Given the description of an element on the screen output the (x, y) to click on. 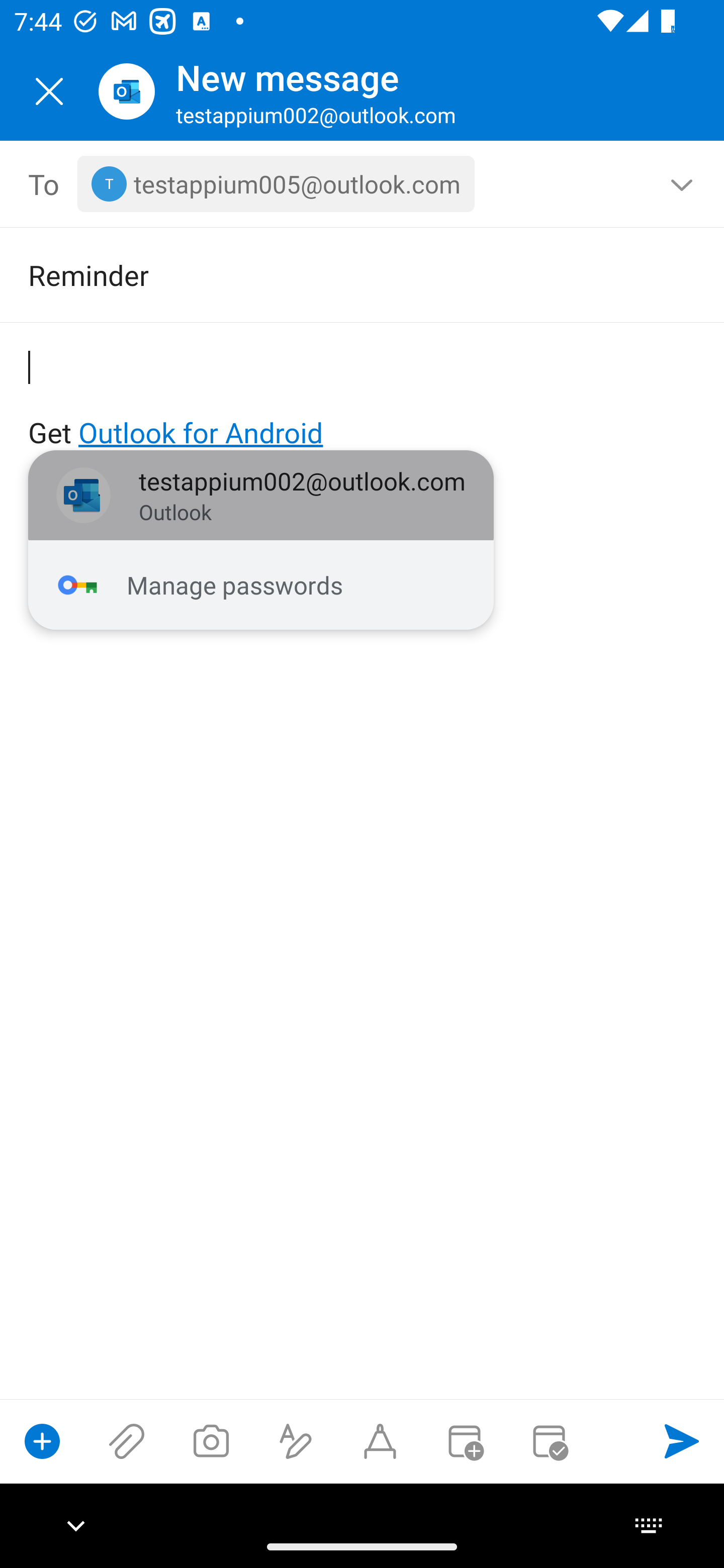
Outlook testappium002@outlook.com Outlook (260, 495)
Google Password Manager Manage passwords (260, 585)
